Given the description of an element on the screen output the (x, y) to click on. 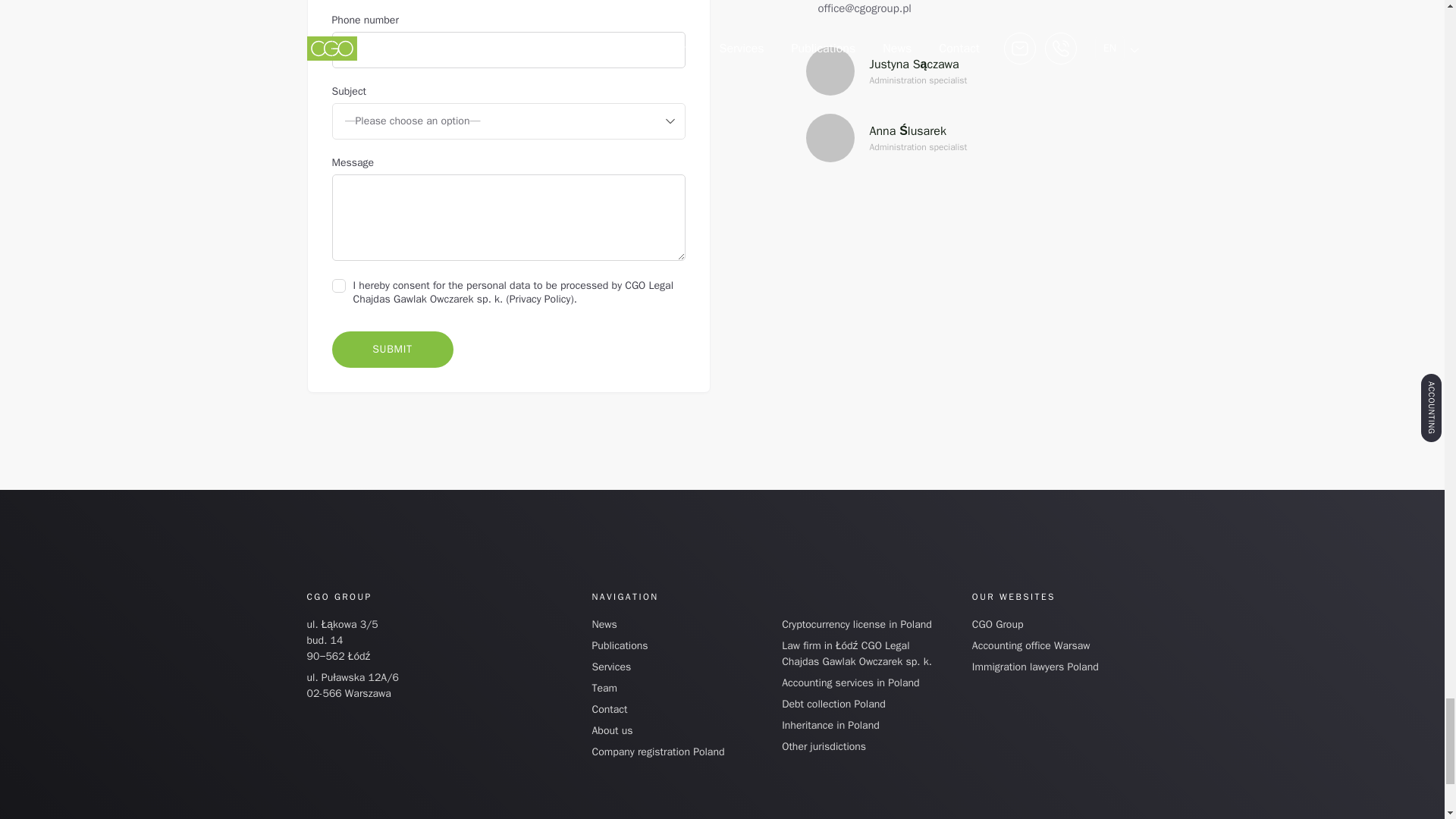
Submit (391, 349)
